Given the description of an element on the screen output the (x, y) to click on. 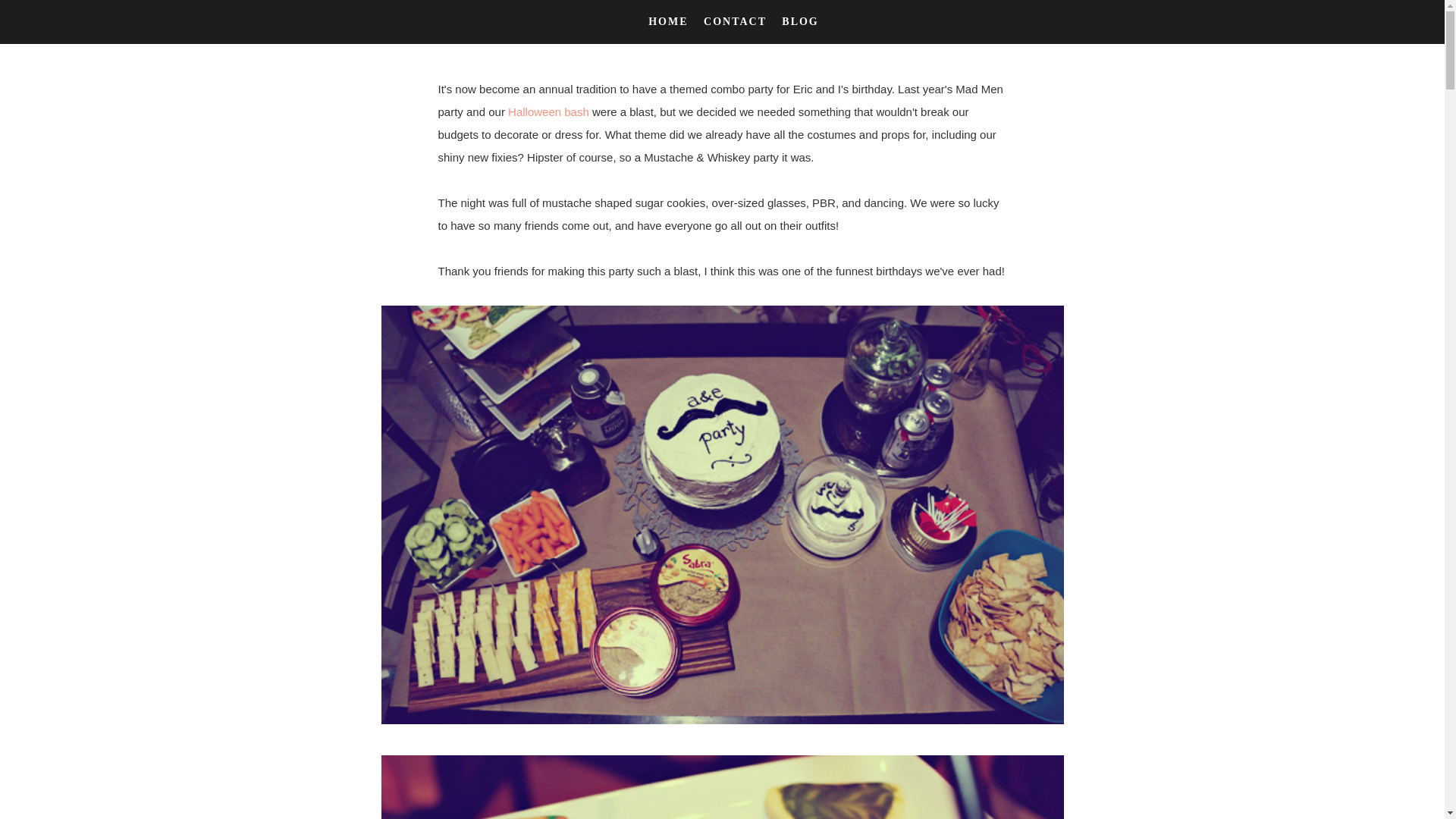
CONTACT (736, 21)
BLOG (799, 21)
HOME (670, 21)
Halloween bash (548, 111)
